Given the description of an element on the screen output the (x, y) to click on. 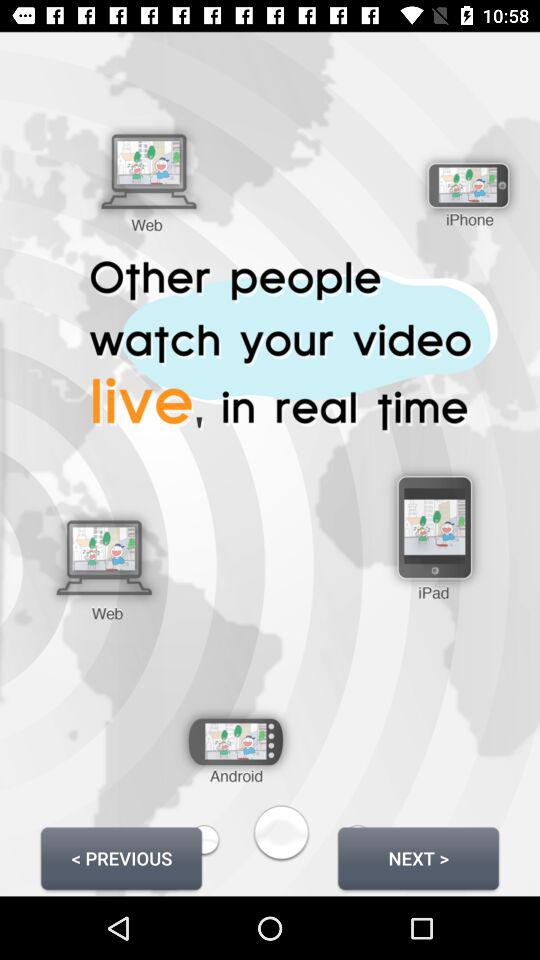
click icon to the left of next > (121, 858)
